Given the description of an element on the screen output the (x, y) to click on. 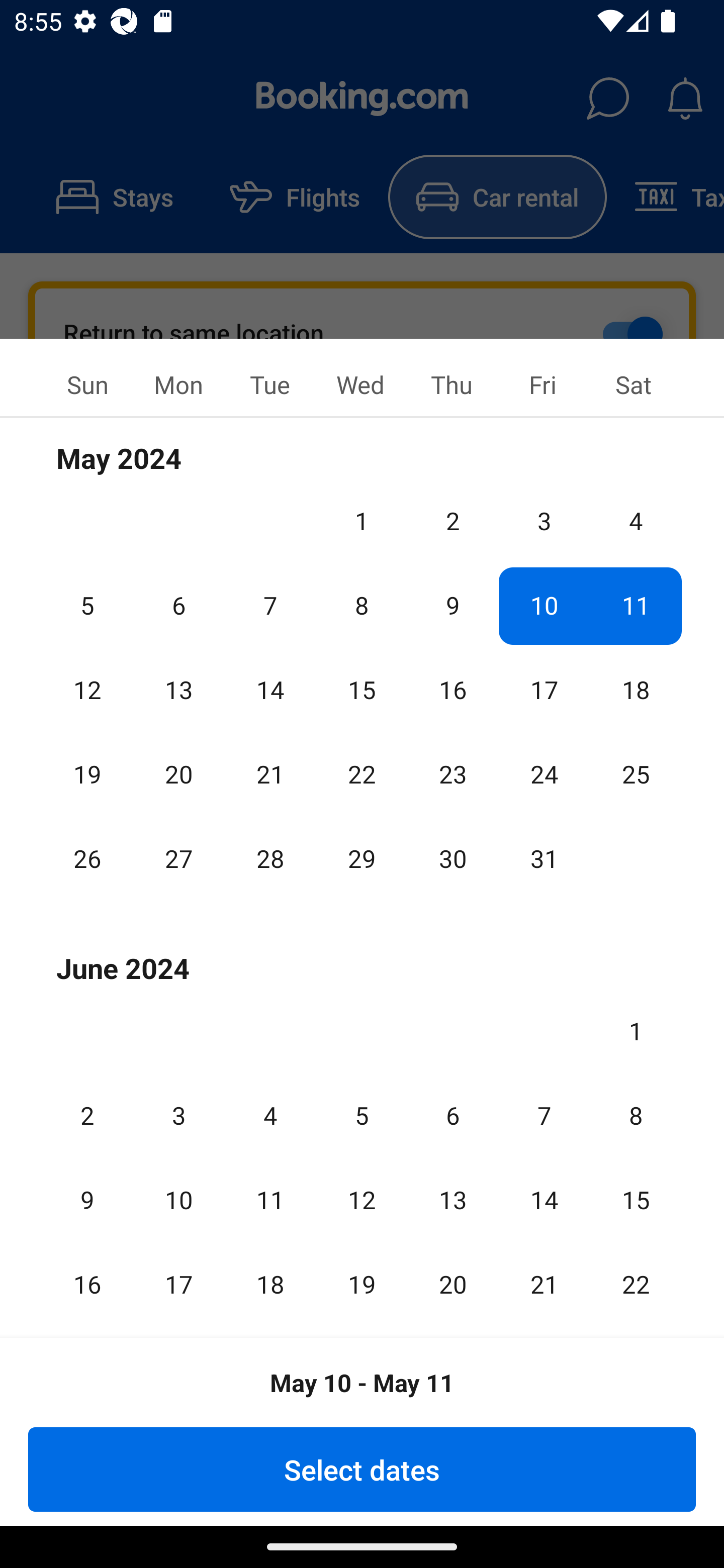
Select dates (361, 1468)
